Given the description of an element on the screen output the (x, y) to click on. 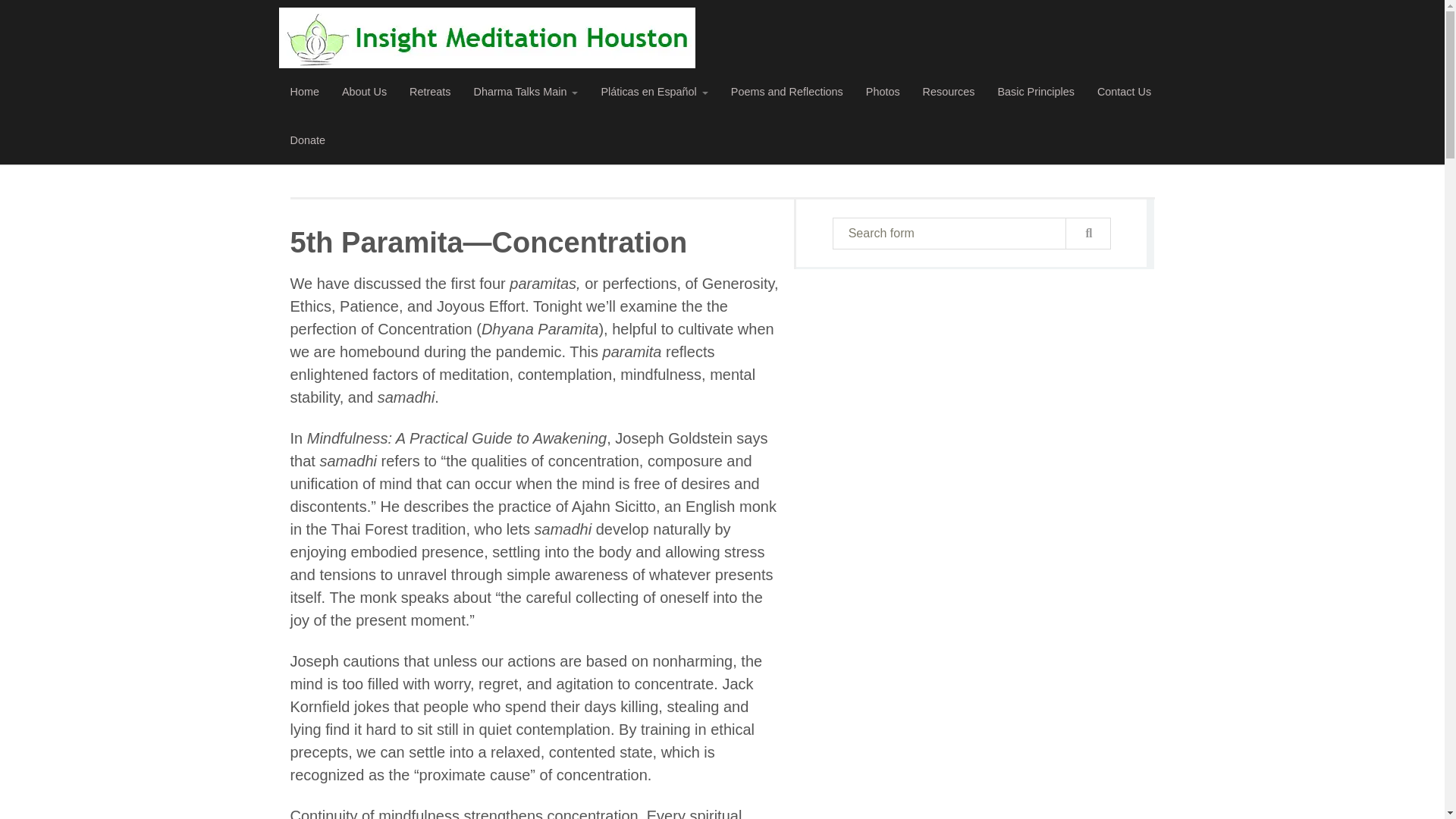
About Us (363, 92)
Retreats (429, 92)
Home (304, 92)
Resources (949, 92)
Dharma Talks Main (525, 92)
Basic Principles (1035, 92)
Poems and Reflections (786, 92)
Photos (882, 92)
Donate (307, 141)
Contact Us (1123, 92)
